Given the description of an element on the screen output the (x, y) to click on. 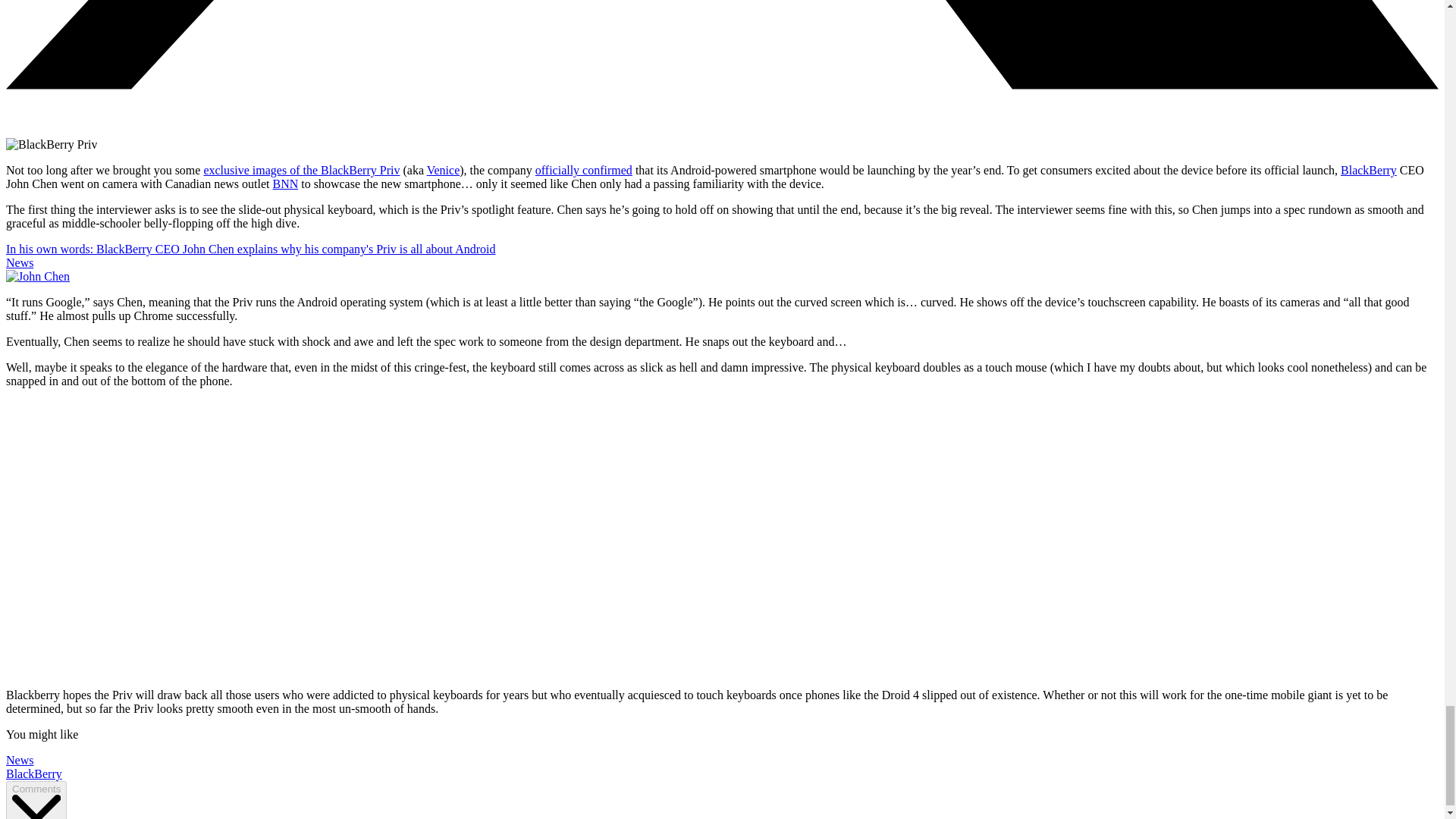
exclusive images of the BlackBerry Priv (300, 169)
News (19, 759)
BlackBerry Priv (51, 144)
officially confirmed (583, 169)
BlackBerry (33, 773)
John Chen (37, 276)
BNN (285, 183)
BlackBerry (1368, 169)
Venice (443, 169)
